Given the description of an element on the screen output the (x, y) to click on. 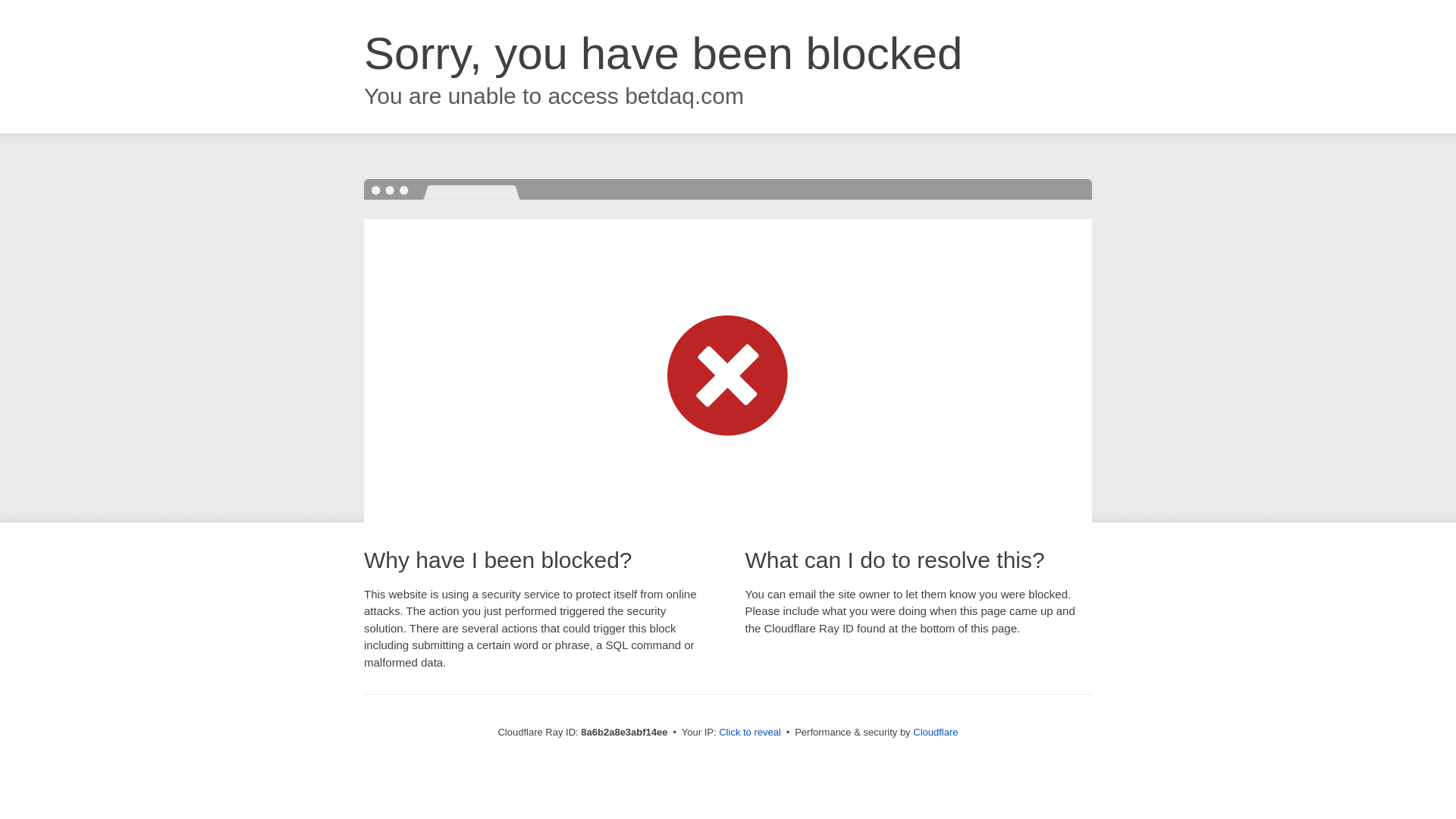
Cloudflare (935, 731)
Click to reveal (749, 732)
